Given the description of an element on the screen output the (x, y) to click on. 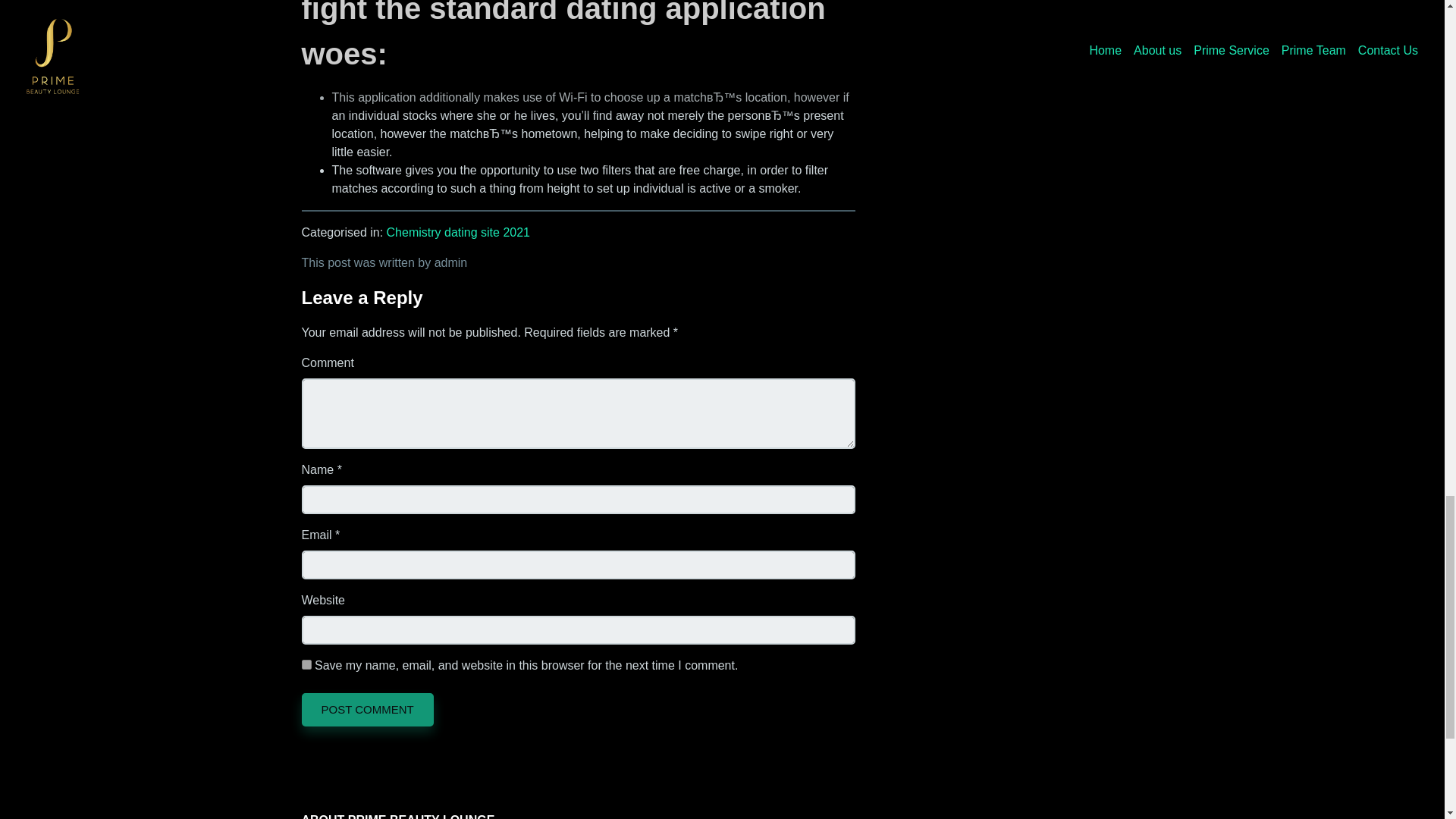
Post Comment (367, 709)
yes (306, 664)
Post Comment (367, 709)
Chemistry dating site 2021 (458, 232)
